Given the description of an element on the screen output the (x, y) to click on. 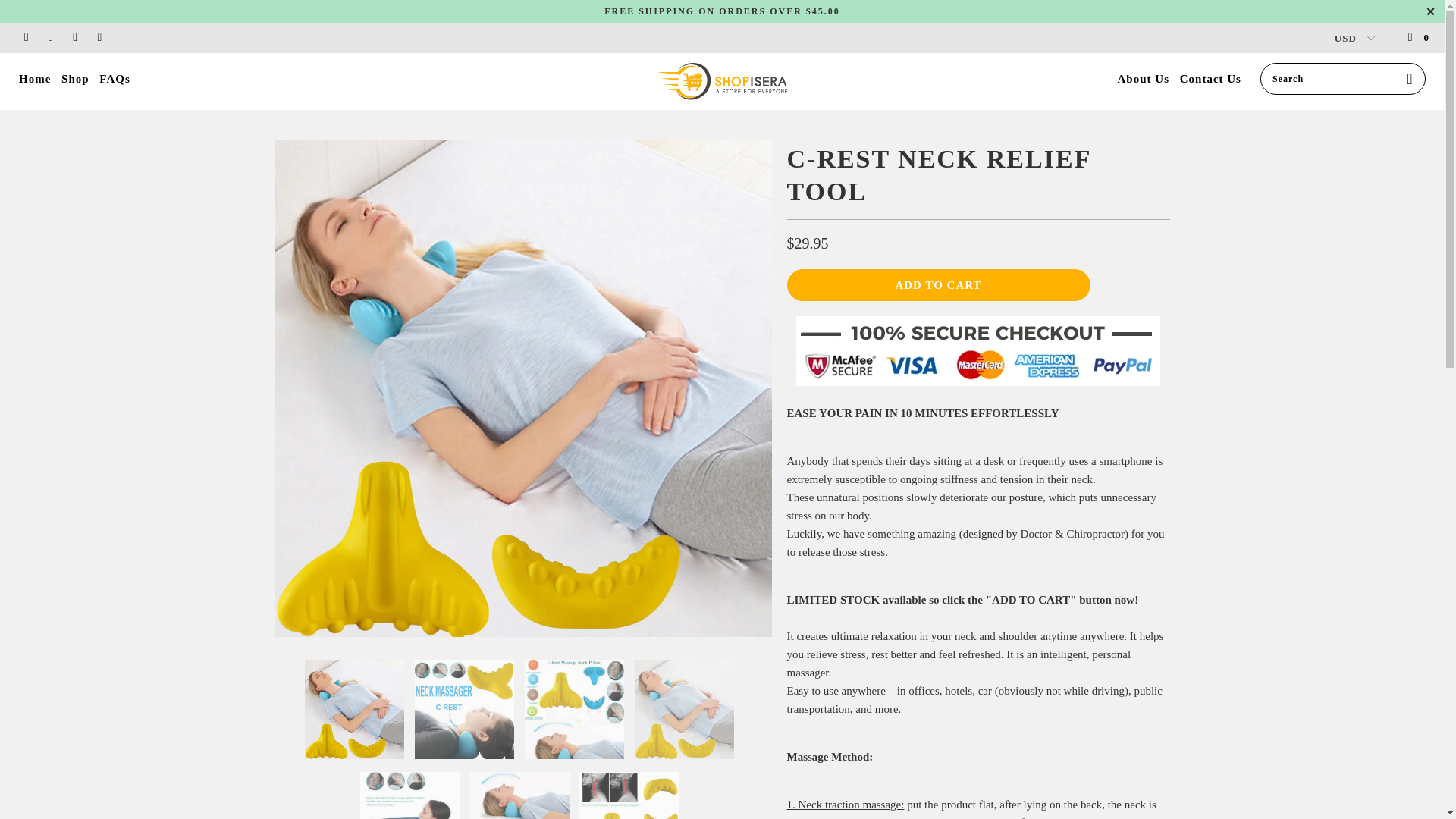
Contact Us (1210, 78)
Home (34, 78)
FAQs (114, 78)
Email Shopisera (97, 37)
Shopisera on Twitter (25, 37)
About Us (1143, 78)
Shop (74, 78)
Shopisera on Facebook (49, 37)
Shopisera on Instagram (73, 37)
Shopisera (722, 81)
